Given the description of an element on the screen output the (x, y) to click on. 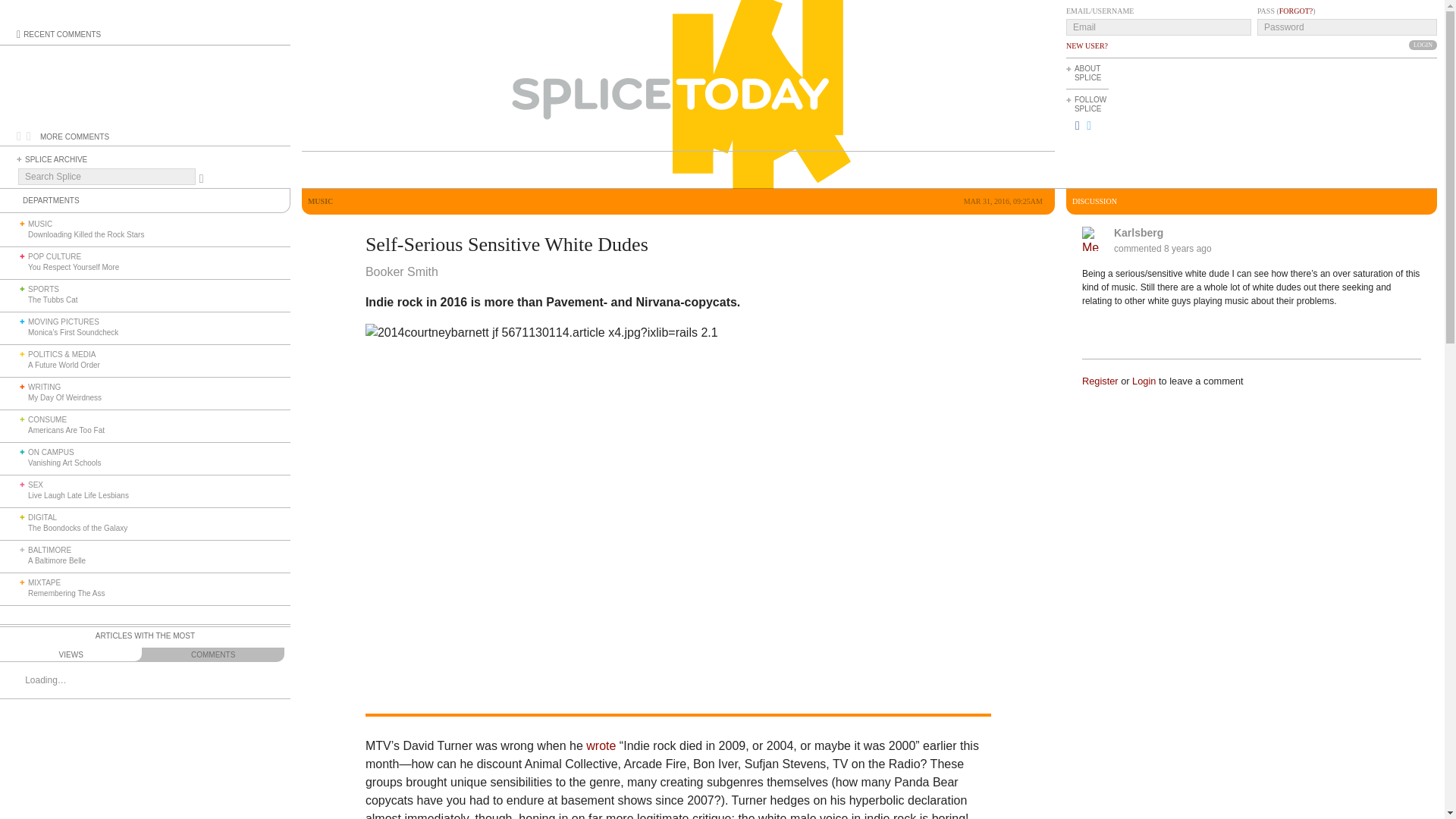
The Boondocks of the Galaxy (77, 528)
FORGOT? (1296, 10)
SEX (35, 484)
ABOUT SPLICE (1088, 72)
Americans Are Too Fat (65, 429)
Live Laugh Late Life Lesbians (78, 495)
POP CULTURE (54, 256)
You Respect Yourself More (73, 266)
Login (1423, 44)
MIXTAPE (44, 582)
